Given the description of an element on the screen output the (x, y) to click on. 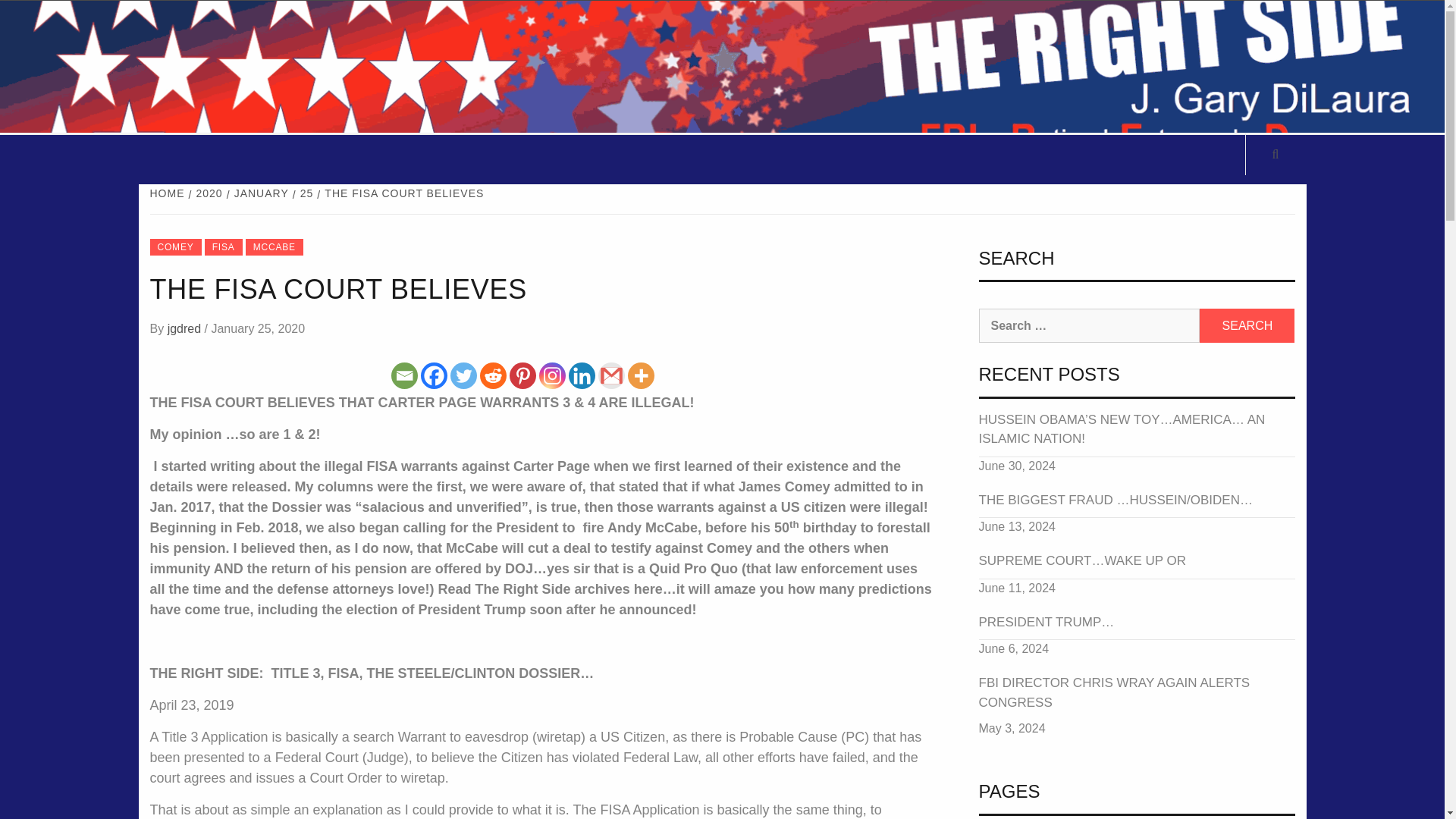
Search (1246, 325)
Search (1246, 325)
Email (404, 375)
Pinterest (522, 375)
Facebook (433, 375)
THE FISA COURT BELIEVES (402, 193)
HOME (169, 193)
FISA (224, 247)
Google Gmail (610, 375)
25 (304, 193)
